Given the description of an element on the screen output the (x, y) to click on. 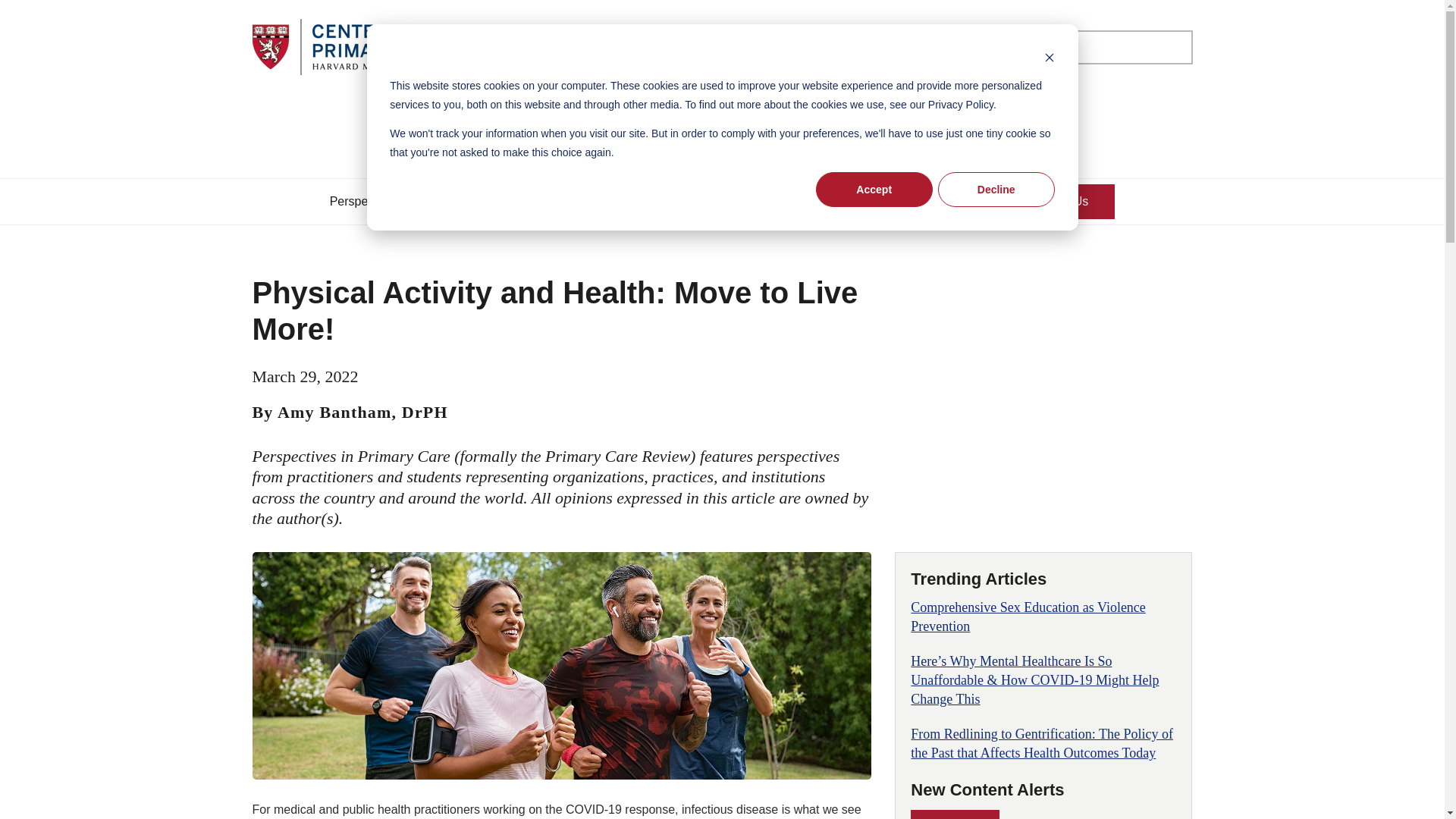
centerforprimarycare (349, 46)
Perspectives Home (382, 201)
Contact Us (1058, 200)
By Amy Bantham, DrPH (348, 411)
Perspectives in Primary Care (722, 130)
About Us (500, 201)
Submission Guidelines (627, 201)
Center for Primary Care (898, 201)
Happenings (761, 201)
